Given the description of an element on the screen output the (x, y) to click on. 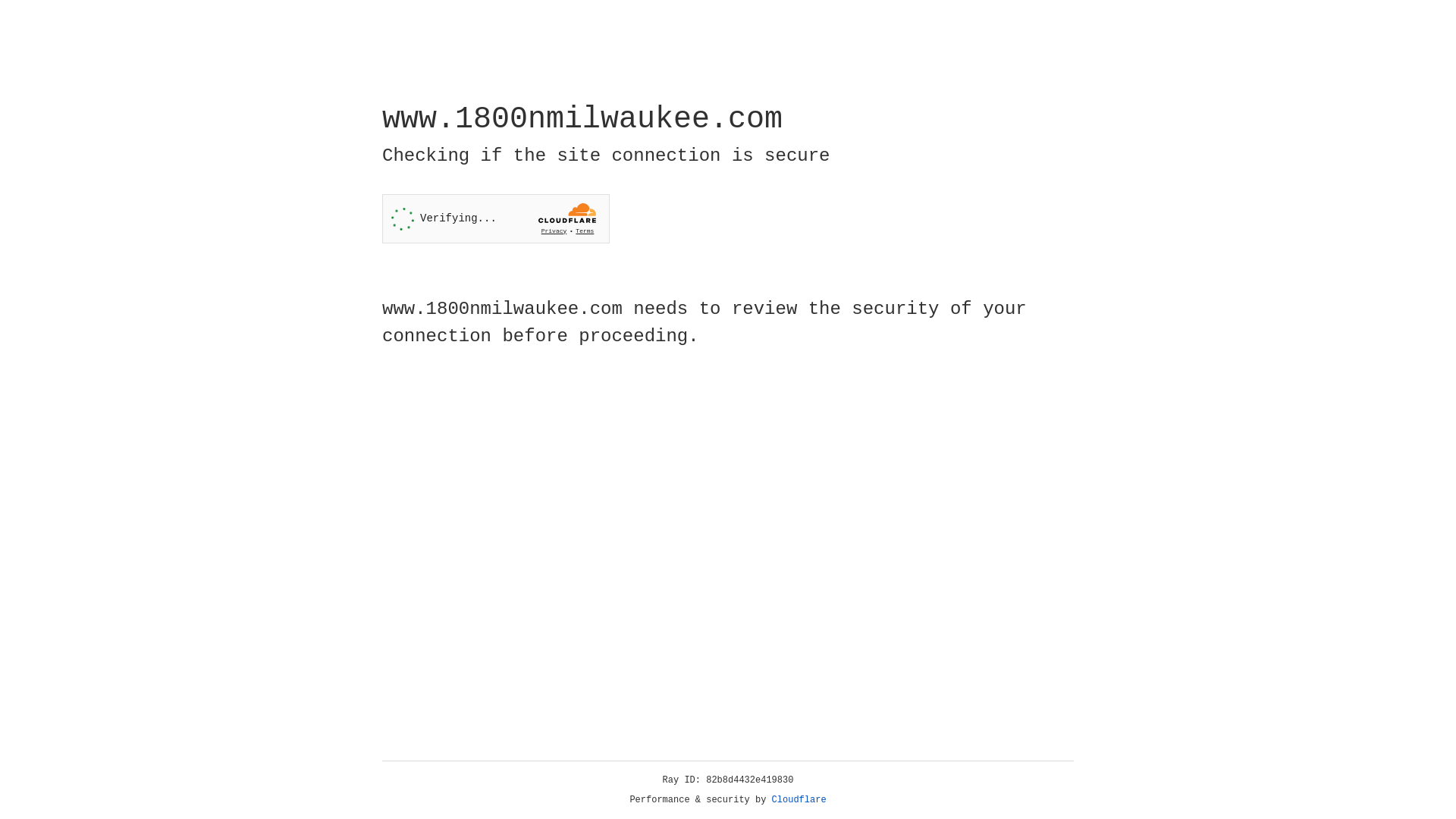
Widget containing a Cloudflare security challenge Element type: hover (495, 218)
Cloudflare Element type: text (798, 799)
